Given the description of an element on the screen output the (x, y) to click on. 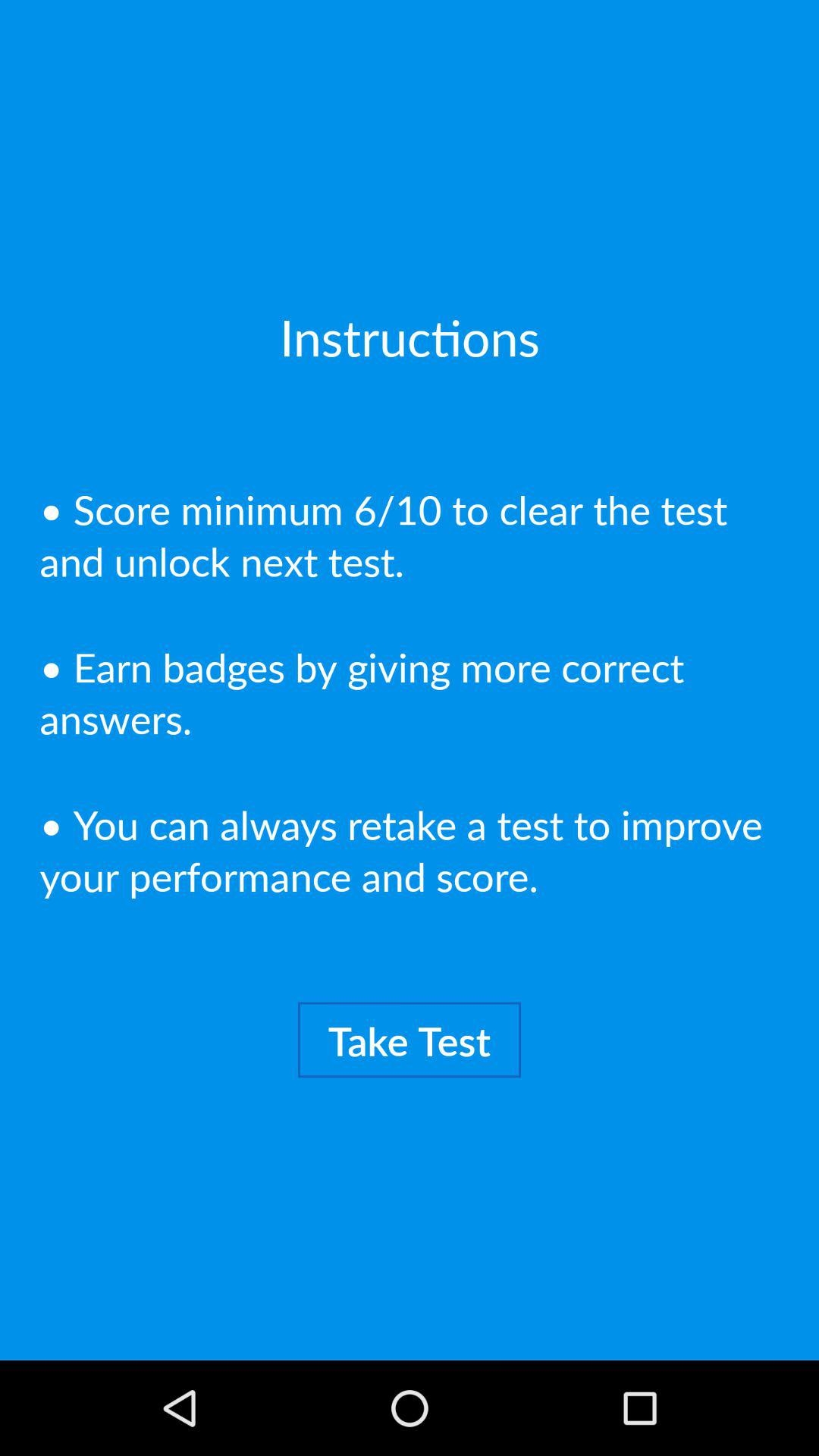
open the icon at the bottom (409, 1039)
